Given the description of an element on the screen output the (x, y) to click on. 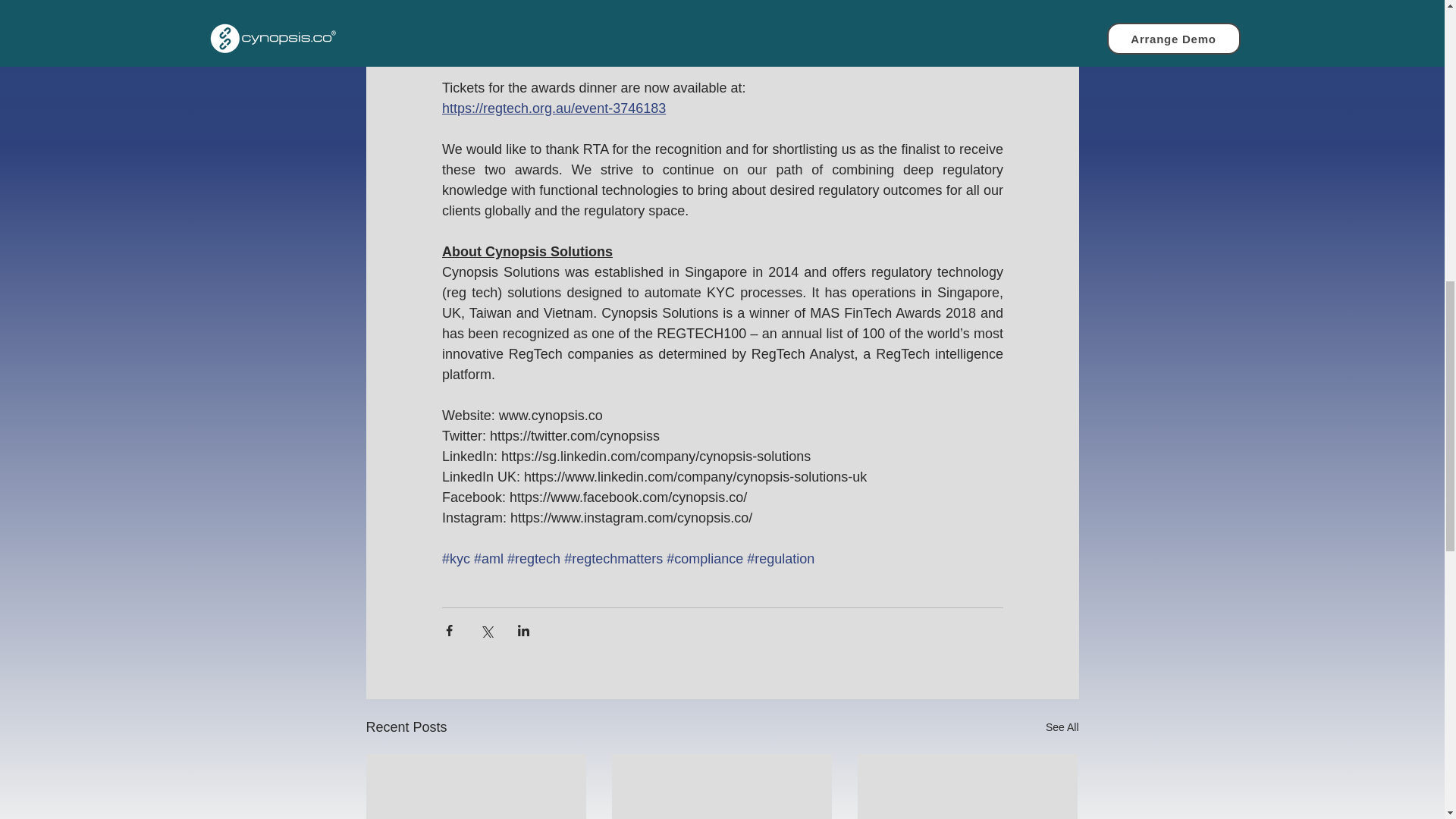
See All (1061, 727)
